Given the description of an element on the screen output the (x, y) to click on. 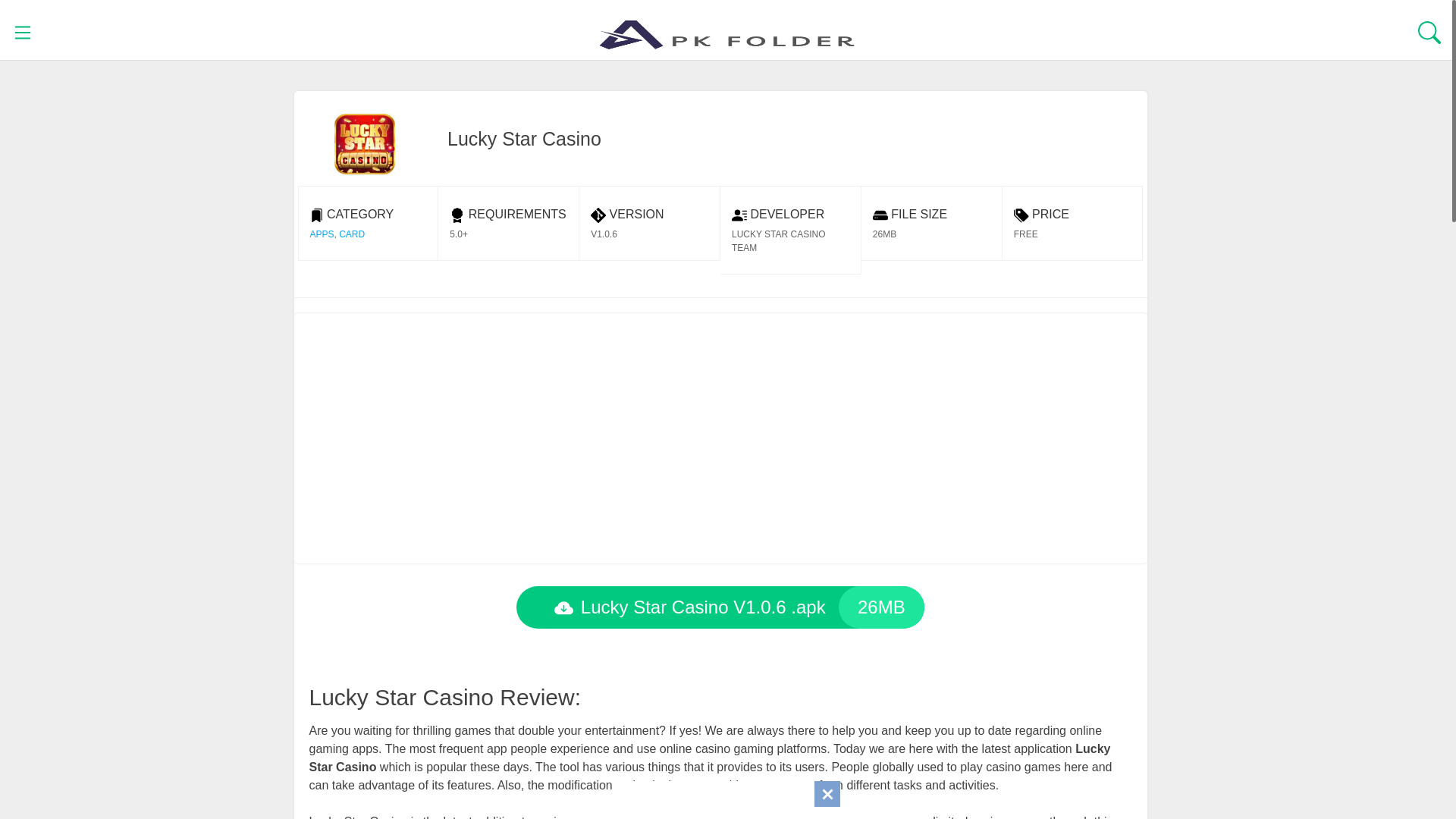
CARD (352, 234)
APPS (320, 234)
